Given the description of an element on the screen output the (x, y) to click on. 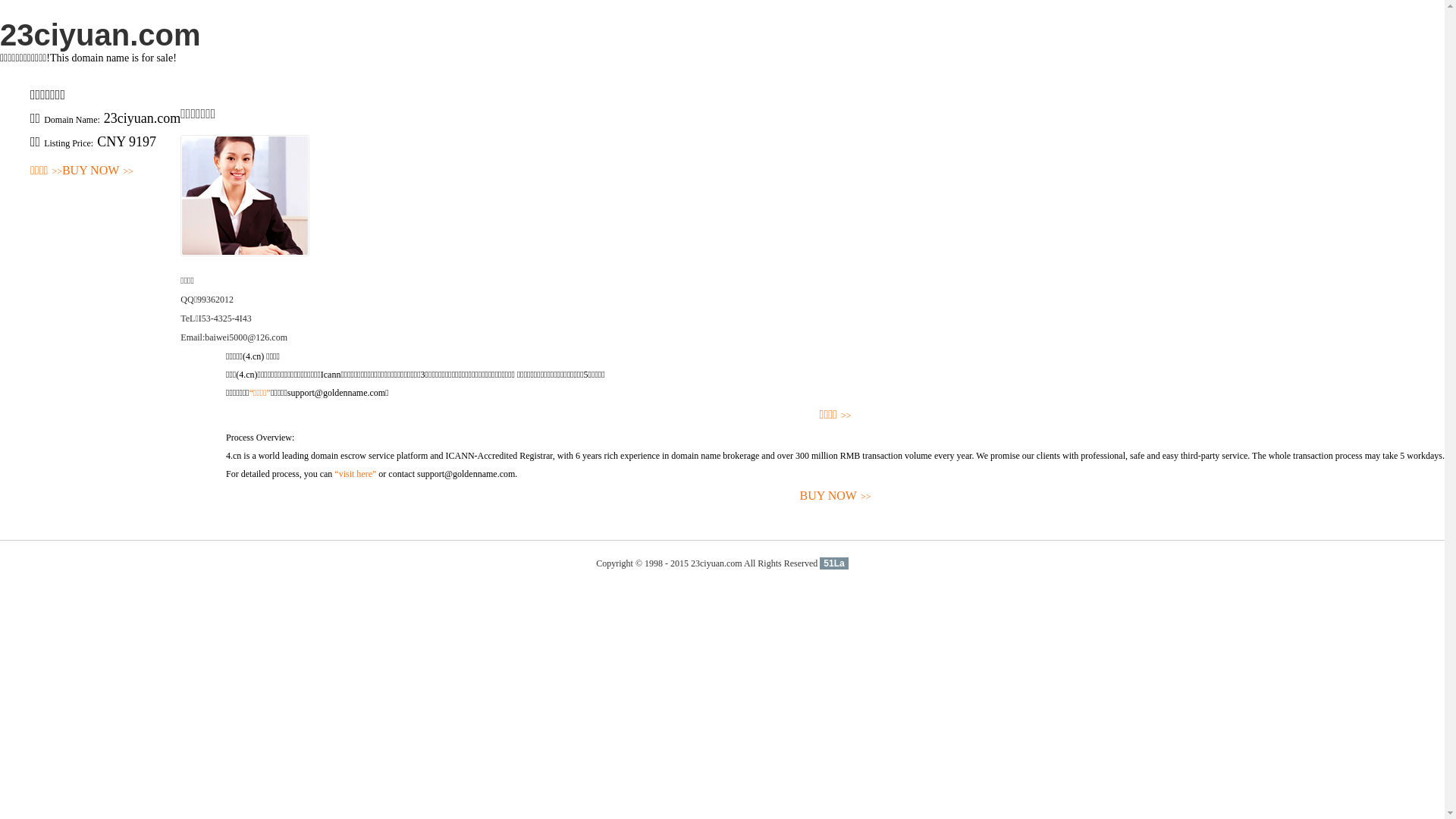
BUY NOW>> Element type: text (834, 496)
BUY NOW>> Element type: text (97, 170)
51La Element type: text (833, 563)
